Given the description of an element on the screen output the (x, y) to click on. 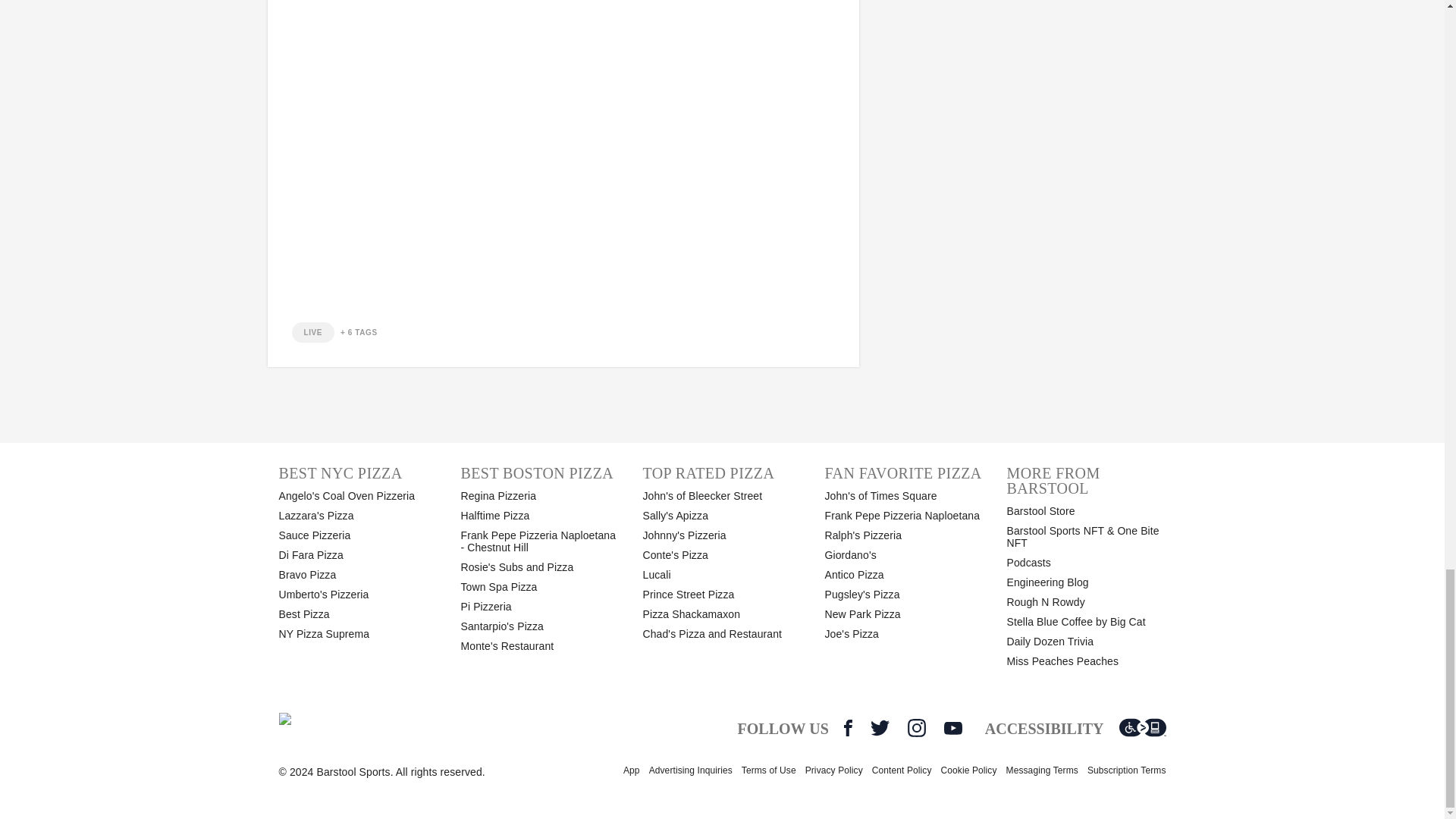
Level Access website accessibility icon (1142, 727)
YouTube Icon (952, 728)
Instagram Icon (916, 728)
Twitter Icon (879, 728)
